Given the description of an element on the screen output the (x, y) to click on. 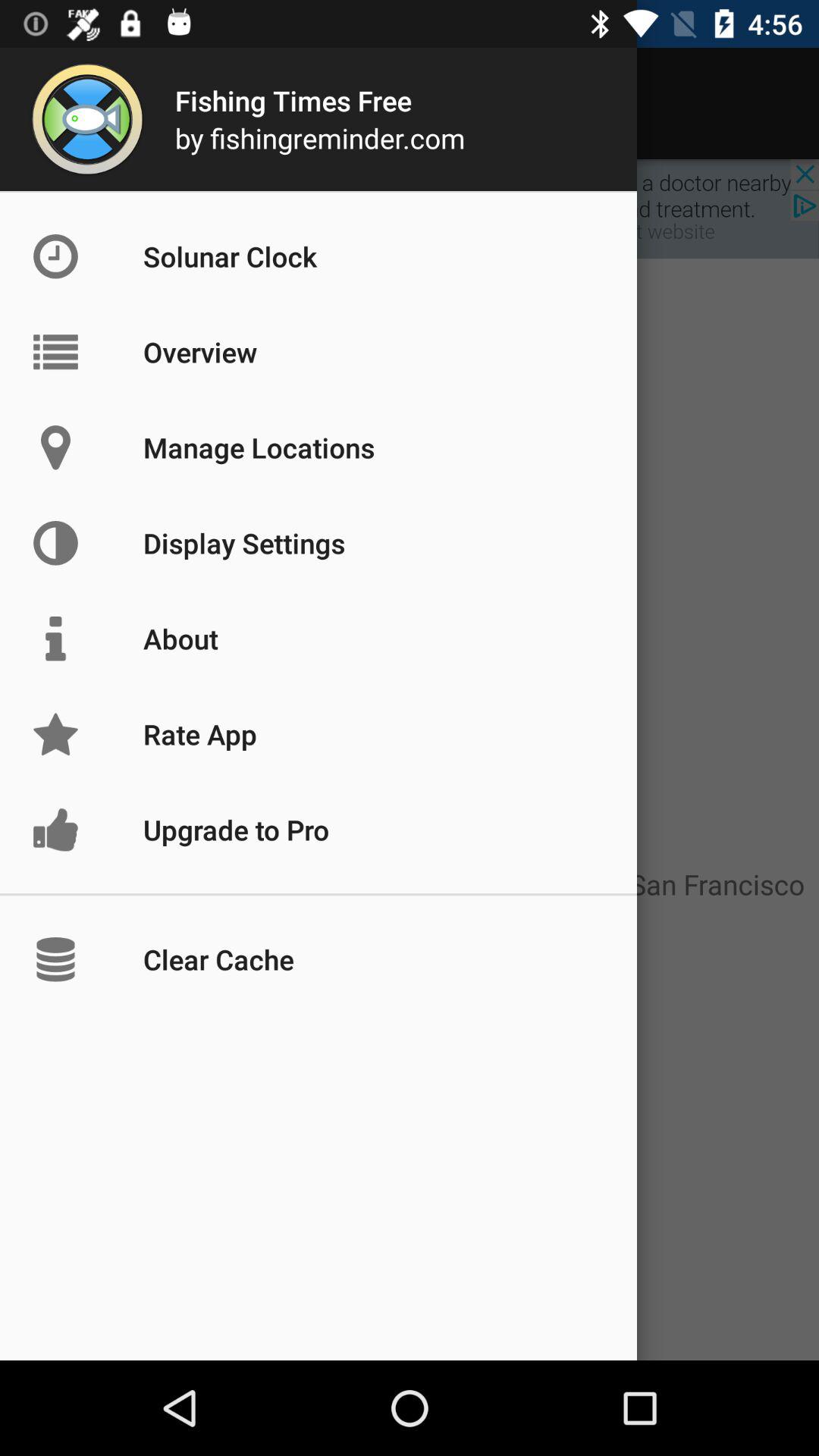
select clock icon which is before solunar clock on the page (87, 256)
